Given the description of an element on the screen output the (x, y) to click on. 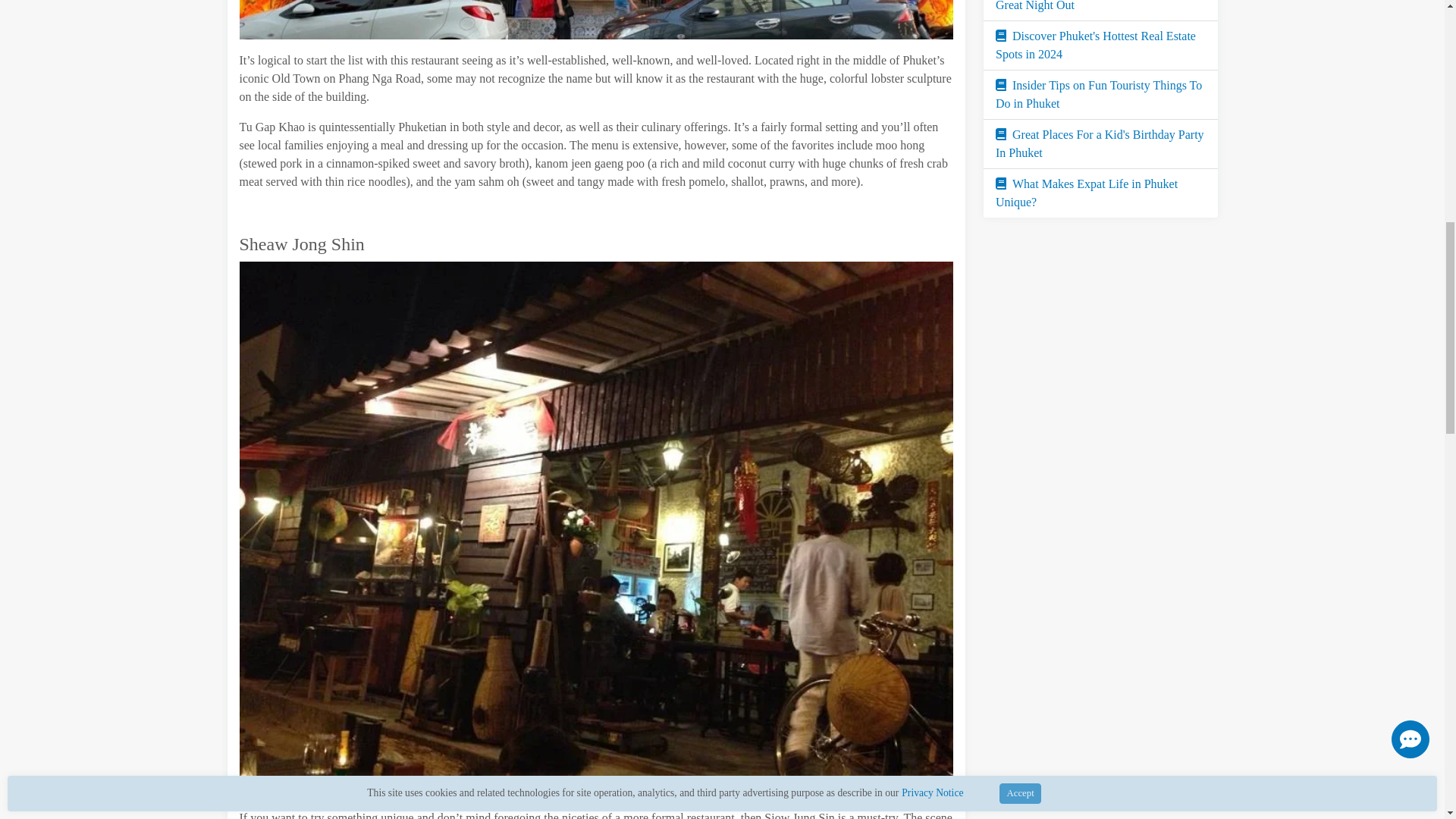
Discover Phuket's Hottest Real Estate Spots in 2024 (1095, 44)
What Makes Expat Life in Phuket Unique? (1086, 192)
Top Live Music Venues in Phuket for a Great Night Out (1098, 5)
Great Places For a Kid's Birthday Party In Phuket (1099, 142)
Insider Tips on Fun Touristy Things To Do in Phuket (1098, 93)
